Given the description of an element on the screen output the (x, y) to click on. 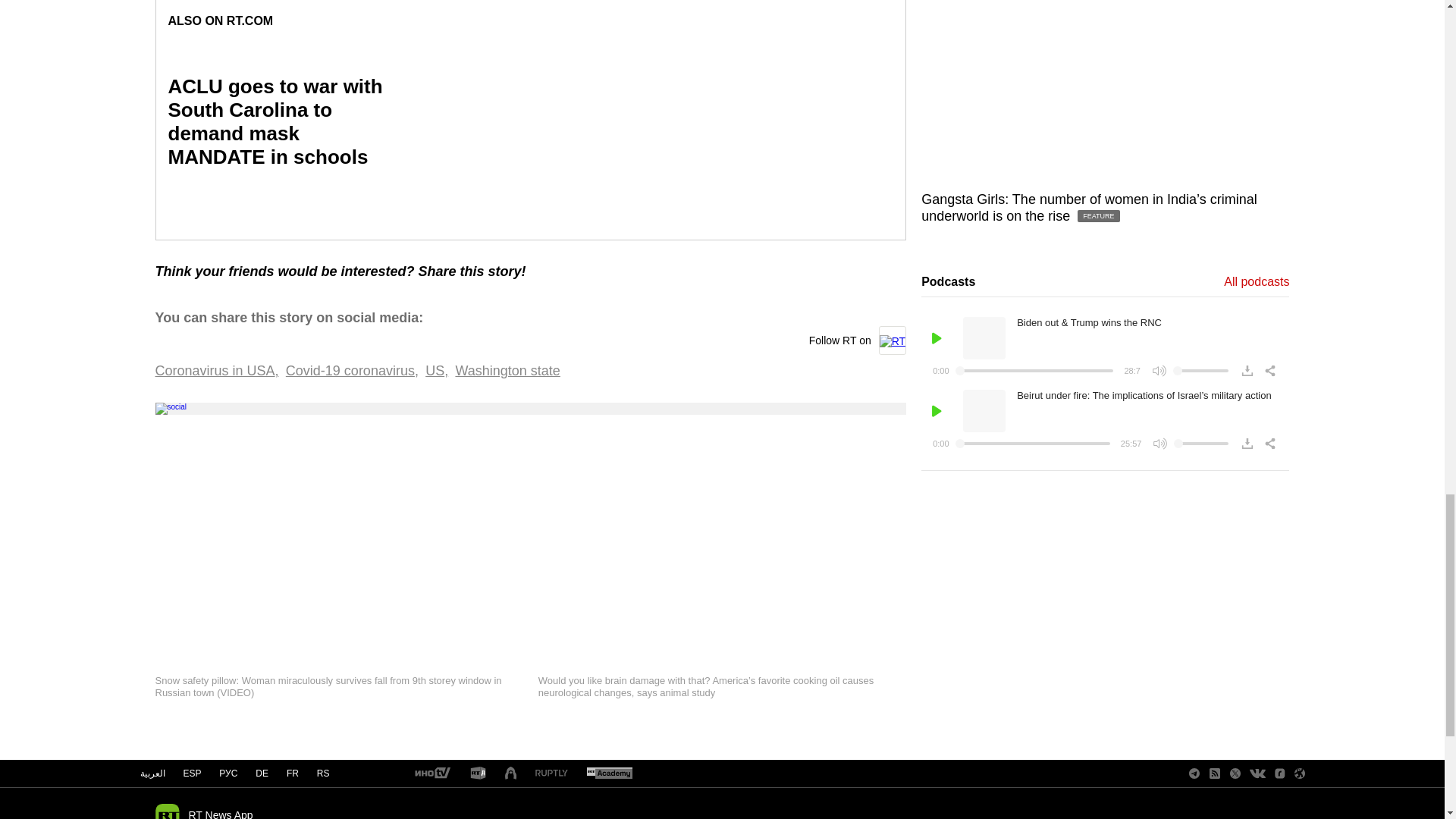
RT  (608, 773)
RT  (431, 773)
RT  (478, 773)
RT  (551, 773)
